Given the description of an element on the screen output the (x, y) to click on. 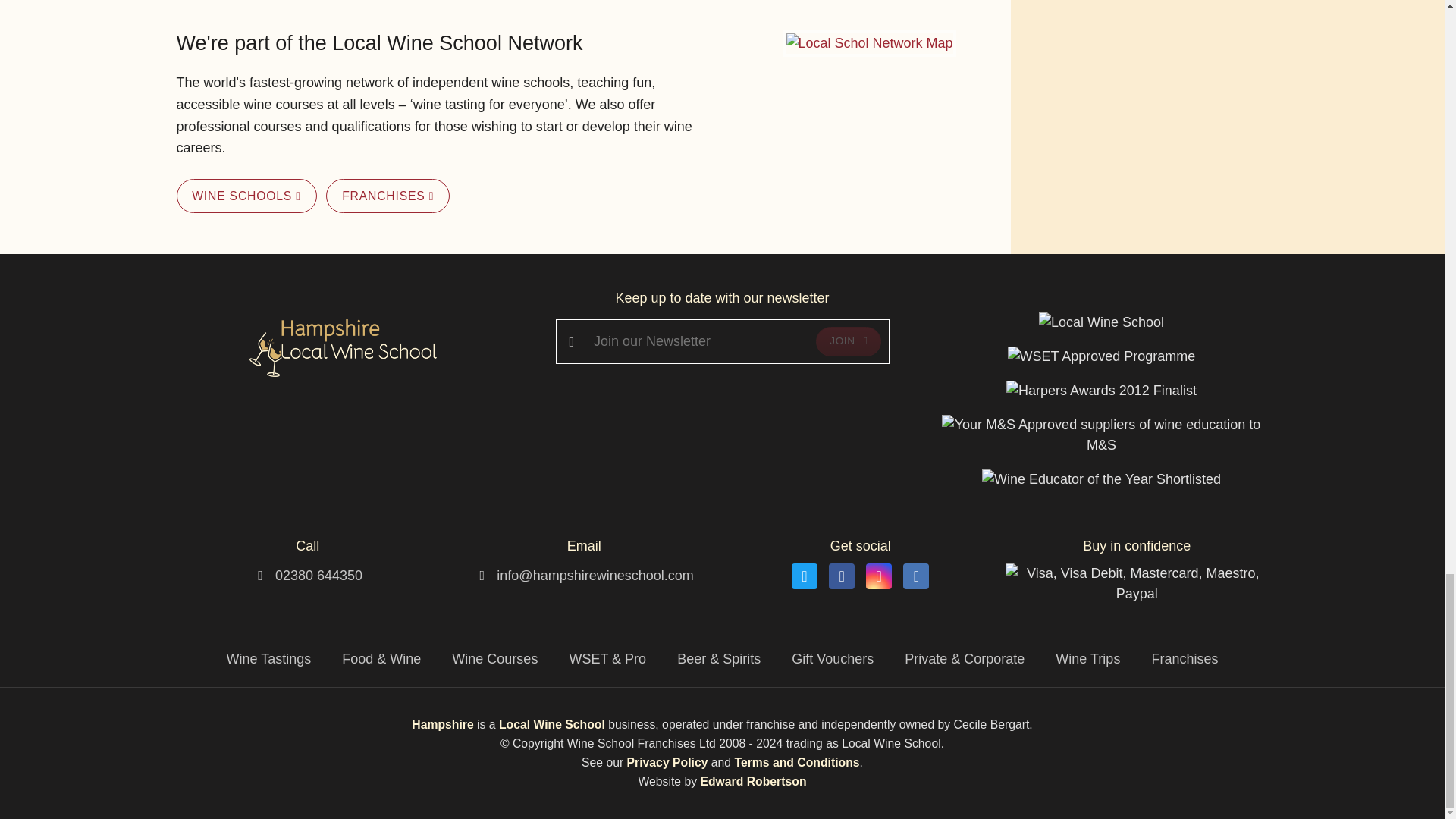
Send us an email (594, 575)
Visit our Instagram (878, 575)
Call us (318, 575)
Visit our Facebook (841, 575)
Visit our Twitter (804, 575)
Visit our LinkedIn (915, 575)
